Given the description of an element on the screen output the (x, y) to click on. 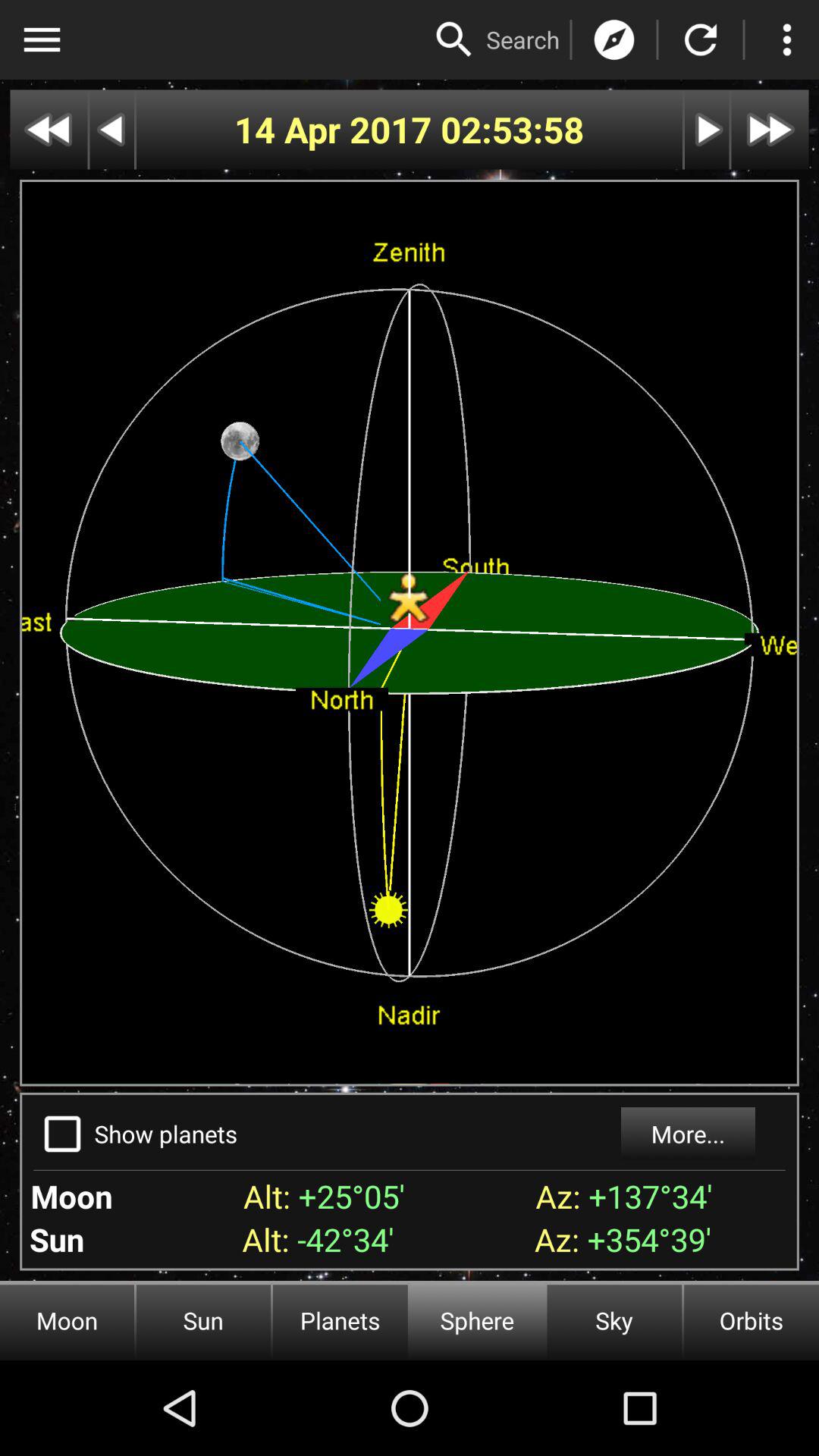
click to show planets (62, 1133)
